Given the description of an element on the screen output the (x, y) to click on. 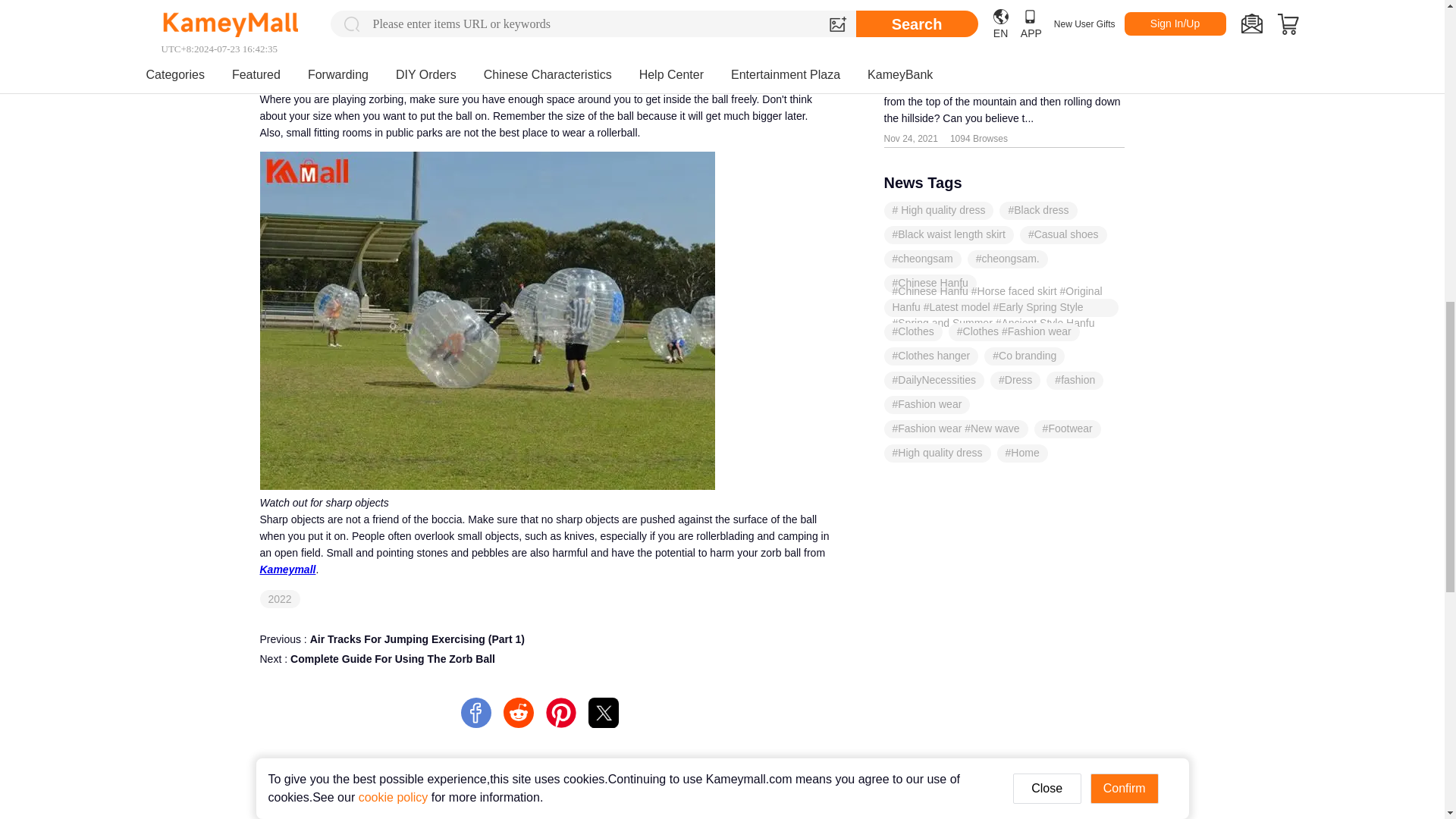
Riding A Zorb Ball? How Can We Play It? (545, 673)
2022 (1037, 32)
Created with Pixso. (279, 599)
Kameymall (603, 712)
